Given the description of an element on the screen output the (x, y) to click on. 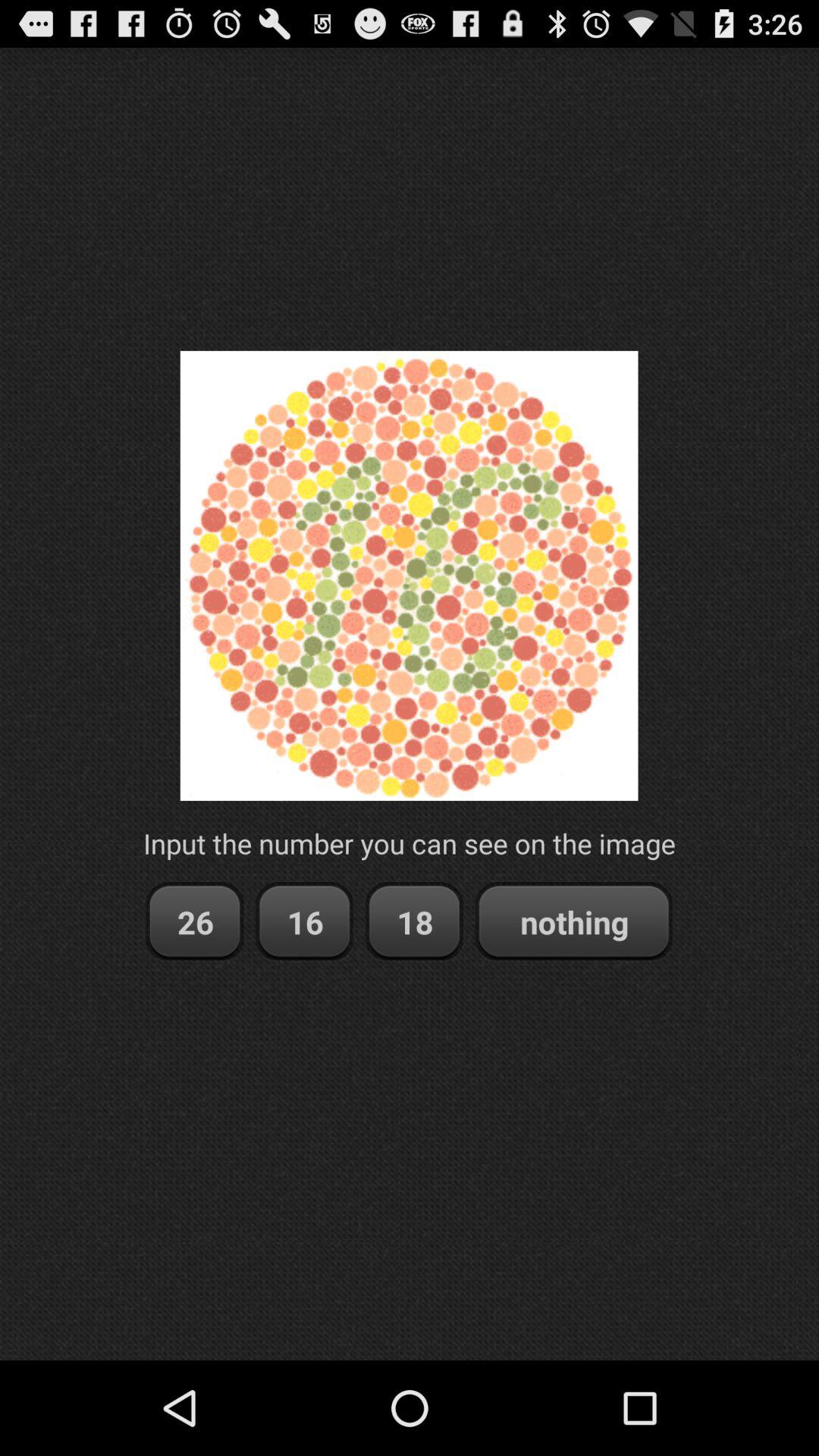
scroll until 16 item (304, 921)
